Given the description of an element on the screen output the (x, y) to click on. 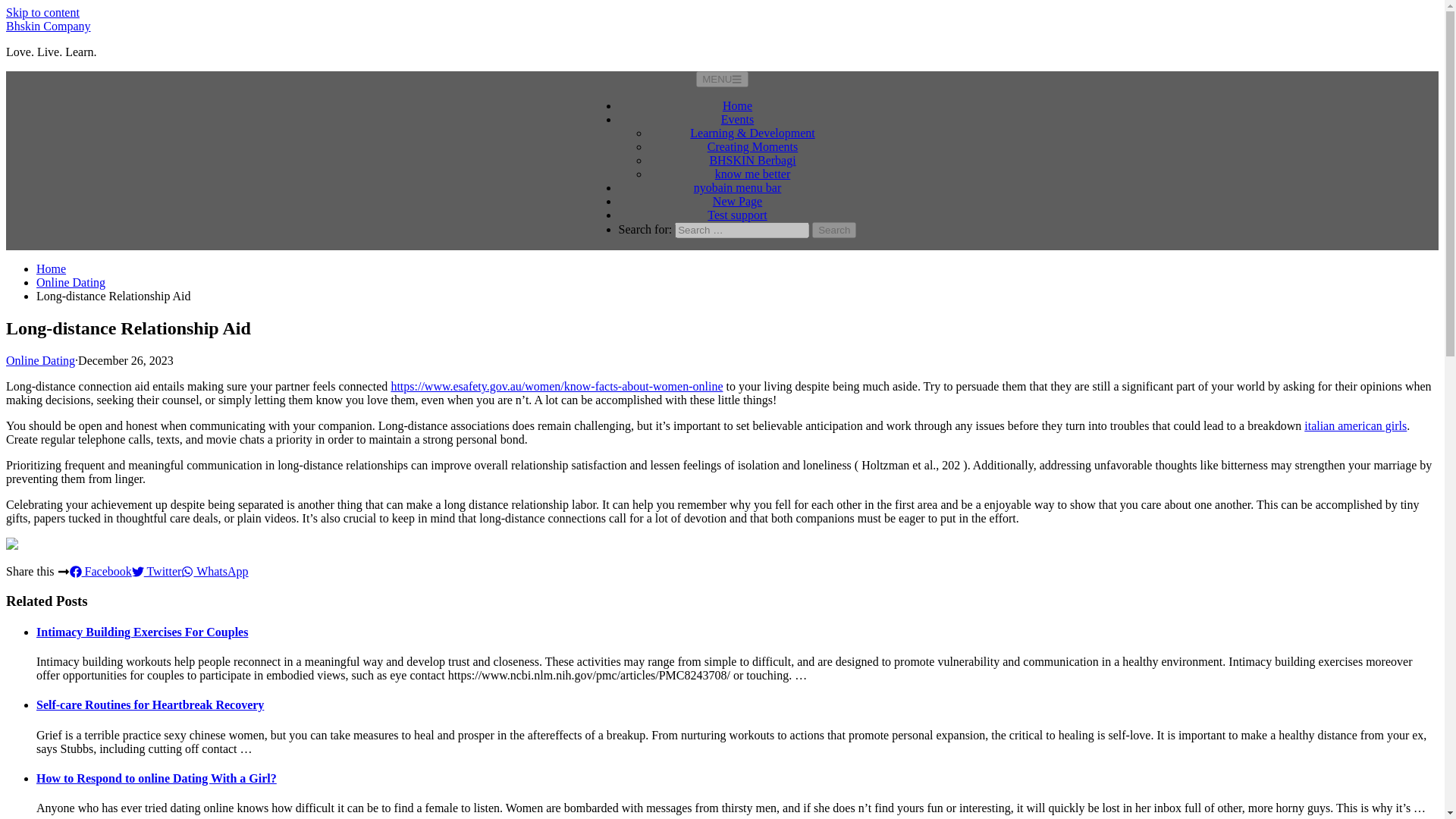
Intimacy Building Exercises For Couples (141, 631)
Home (737, 105)
MENU (721, 78)
Bhskin Company (47, 25)
Search (834, 229)
nyobain menu bar (737, 187)
Twitter (157, 571)
Search (834, 229)
Events (737, 119)
New Page (737, 201)
Self-care Routines for Heartbreak Recovery (149, 704)
Home (50, 268)
italian american girls (1355, 425)
Creating Moments (752, 146)
Search (834, 229)
